Given the description of an element on the screen output the (x, y) to click on. 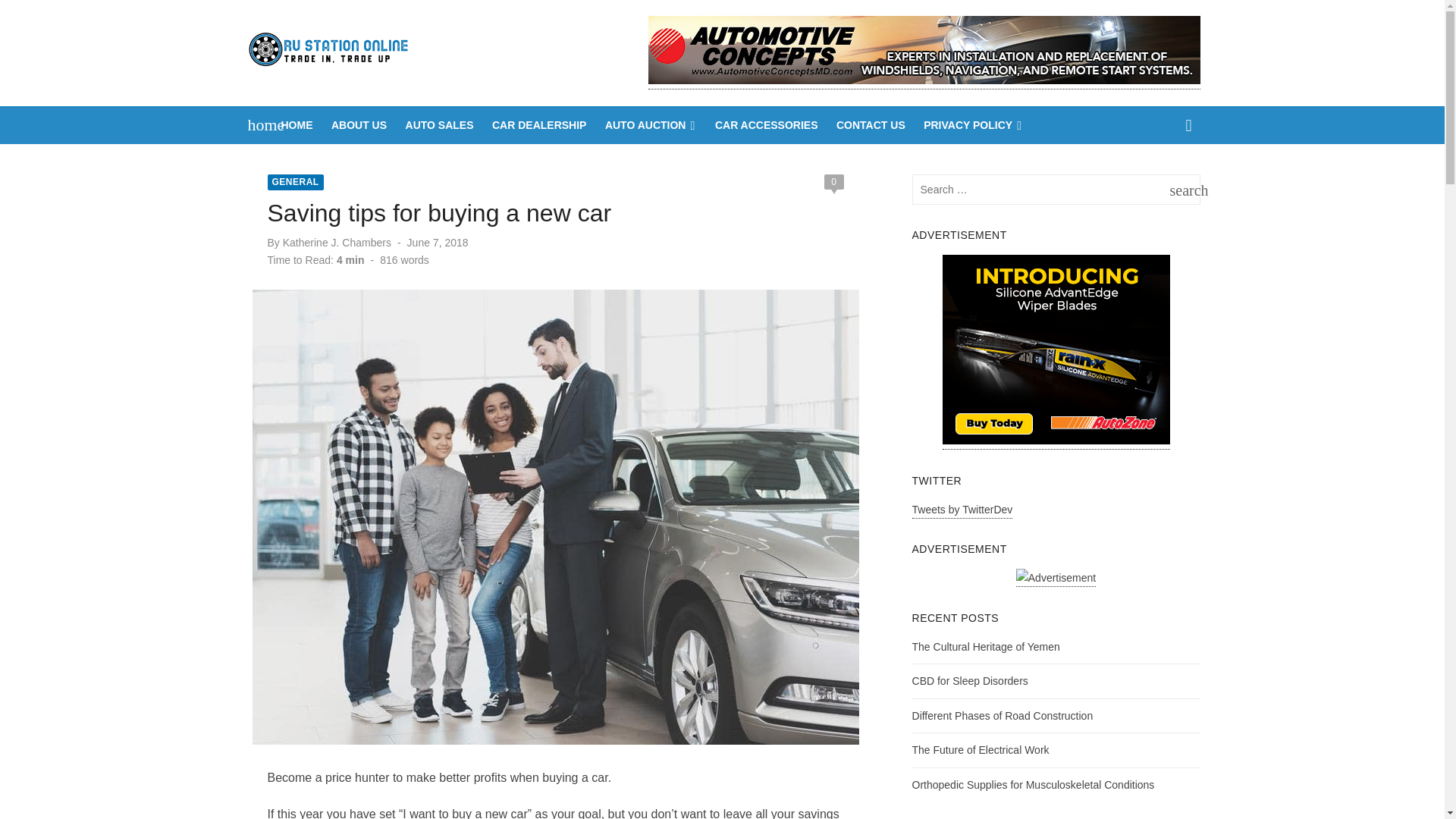
CONTACT US (870, 125)
GENERAL (294, 182)
HOME (1180, 189)
AUTO AUCTION (296, 125)
The Cultural Heritage of Yemen (651, 125)
CAR ACCESSORIES (985, 645)
CAR DEALERSHIP (766, 125)
Katherine J. Chambers (539, 125)
AUTO SALES (336, 242)
June 7, 2018 (440, 125)
0 (437, 242)
home (833, 181)
PRIVACY POLICY (258, 124)
ABOUT US (973, 125)
